Given the description of an element on the screen output the (x, y) to click on. 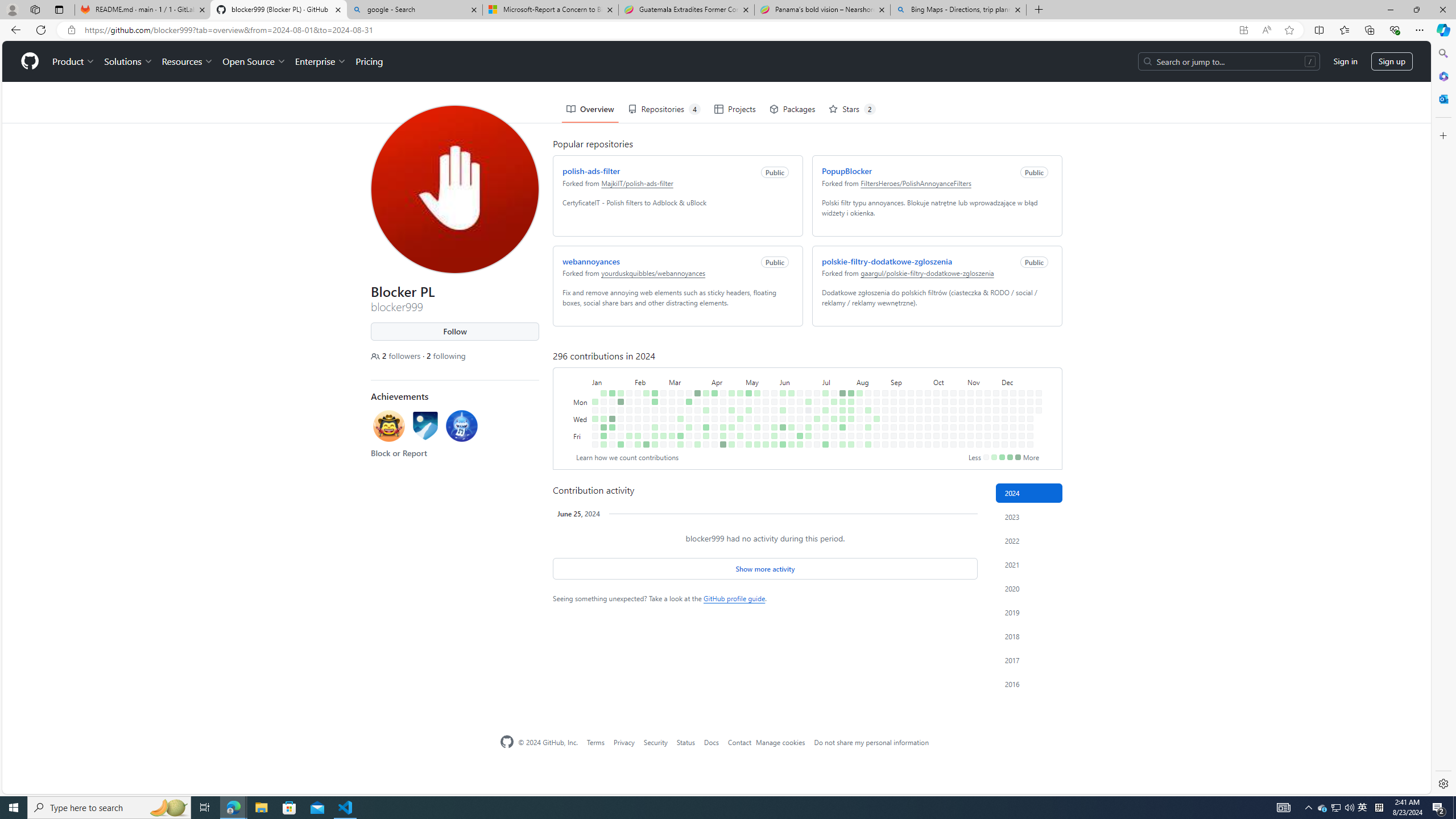
2 contributions on July 15th. (831, 360)
MajkiIT/polish-ads-filter (634, 141)
Product (71, 20)
5 contributions on March 18th. (687, 360)
No contributions on May 6th. (746, 360)
No contributions on October 29th. (959, 369)
10 contributions on March 24th. (694, 351)
3 contributions on April 27th. (731, 444)
No contributions on July 18th. (831, 386)
No contributions on August 19th. (873, 360)
No contributions on November 13th. (976, 377)
No contributions on March 29th. (694, 394)
6 contributions on January 18th. (609, 386)
No contributions on June 18th. (797, 369)
No contributions on January 28th. (627, 351)
